Given the description of an element on the screen output the (x, y) to click on. 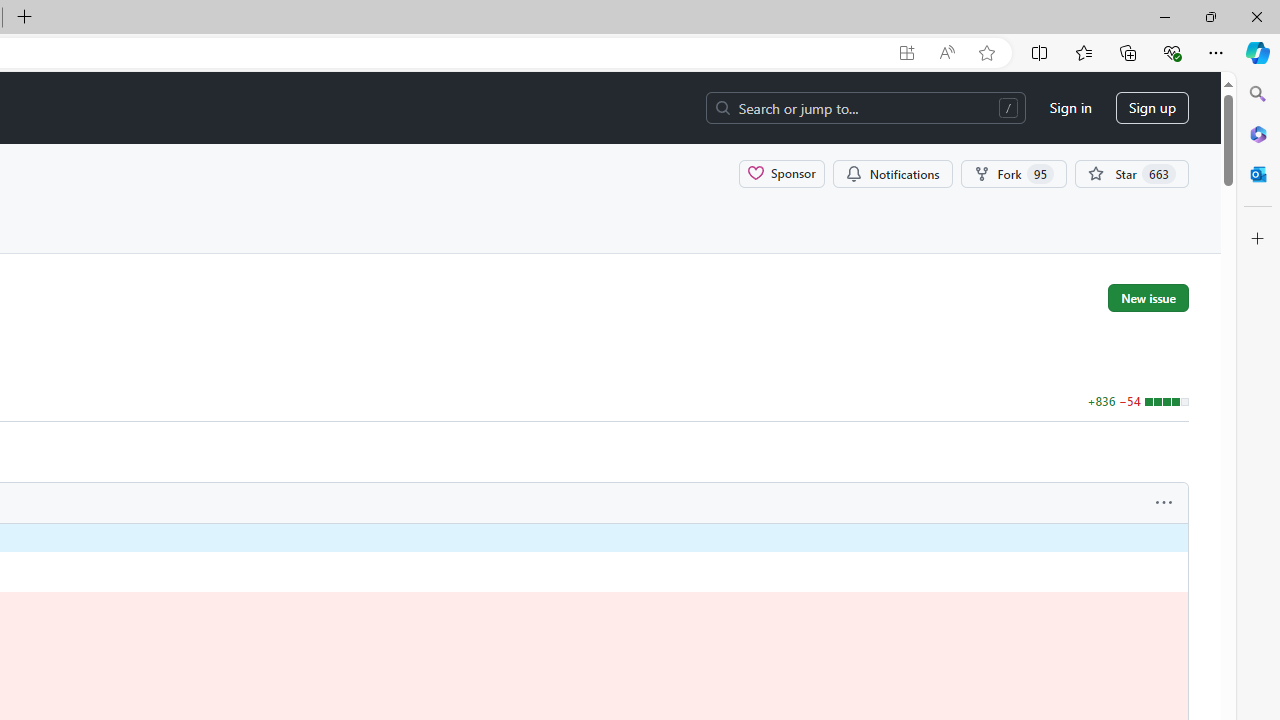
Sign up (1152, 107)
Show options (1163, 503)
 Star 663 (1132, 173)
Fork 95 (1013, 173)
Sponsor MajkiIT/polish-ads-filter (781, 173)
App available. Install GitHub (906, 53)
